Given the description of an element on the screen output the (x, y) to click on. 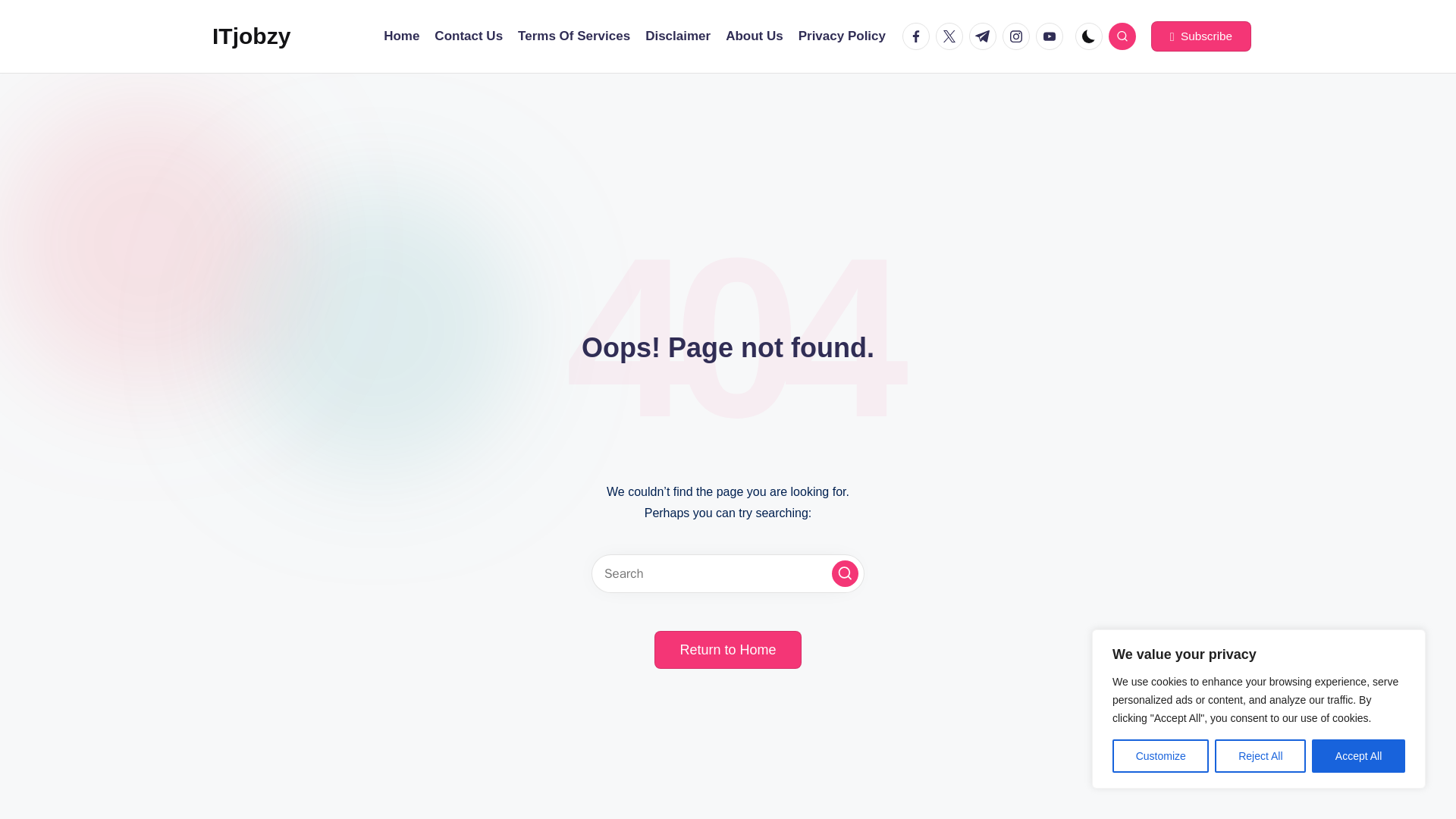
Disclaimer (677, 36)
facebook.com (919, 35)
t.me (986, 35)
Customize (1160, 756)
Contact Us (467, 36)
Reject All (1260, 756)
Terms Of Services (574, 36)
Privacy Policy (841, 36)
Home (401, 36)
Subscribe (1200, 36)
instagram.com (1019, 35)
twitter.com (952, 35)
Accept All (1358, 756)
Return to Home (726, 649)
ITjobzy (250, 36)
